Given the description of an element on the screen output the (x, y) to click on. 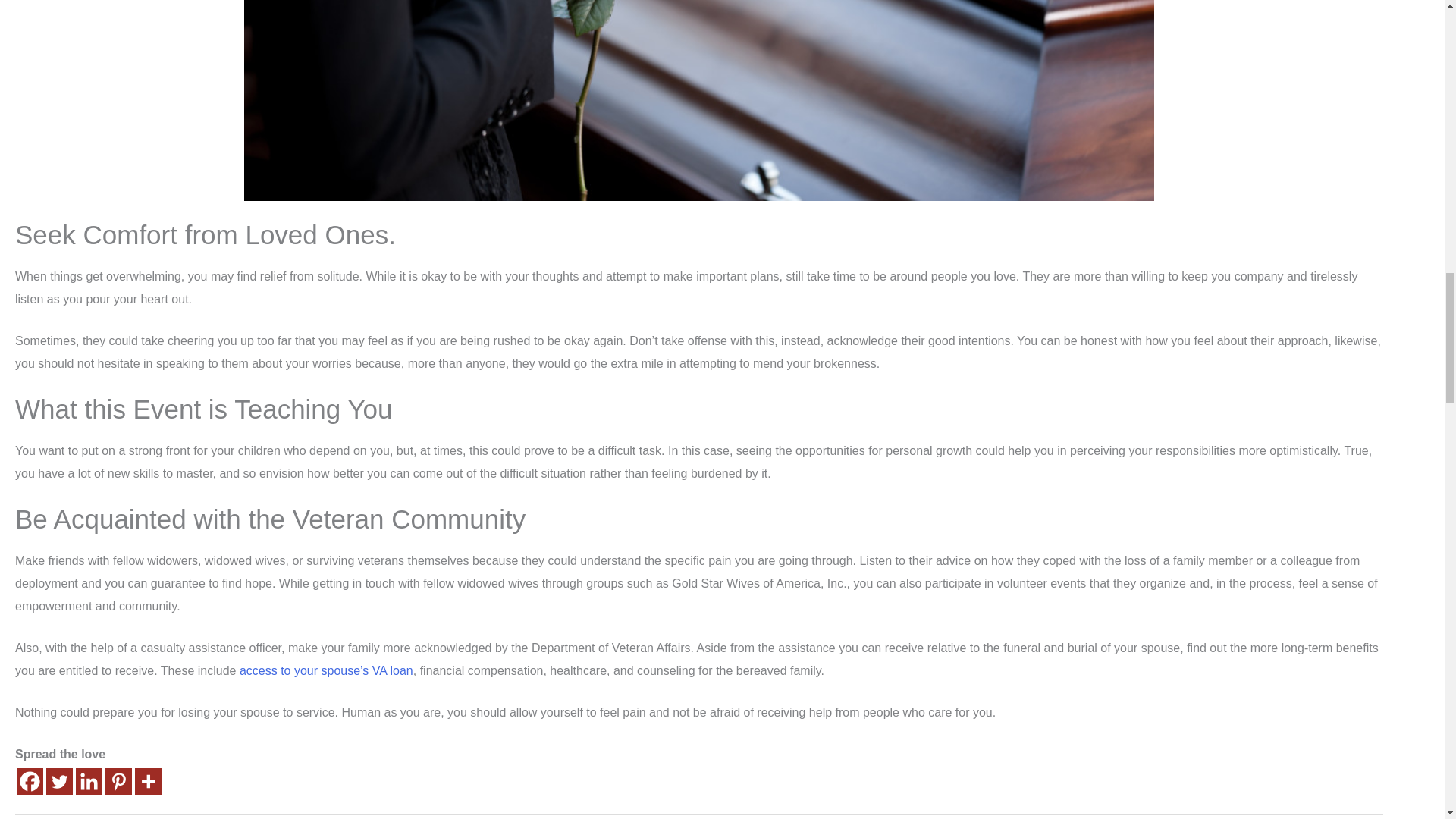
Pinterest (118, 781)
More (148, 781)
Facebook (29, 781)
Linkedin (88, 781)
Twitter (59, 781)
